Given the description of an element on the screen output the (x, y) to click on. 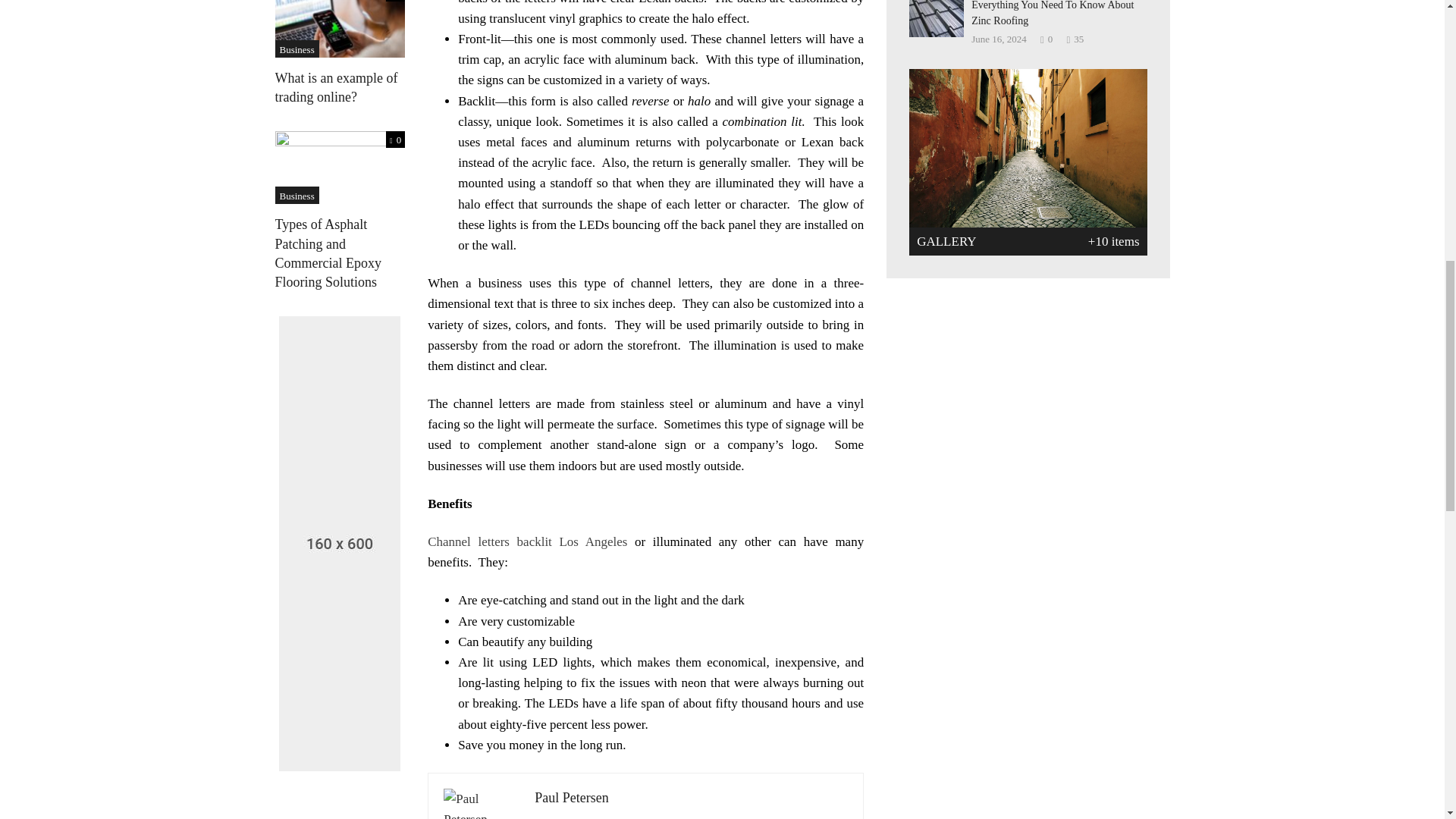
Everything You Need To Know About Zinc Roofing (935, 16)
What is an example of trading online? (339, 20)
